Given the description of an element on the screen output the (x, y) to click on. 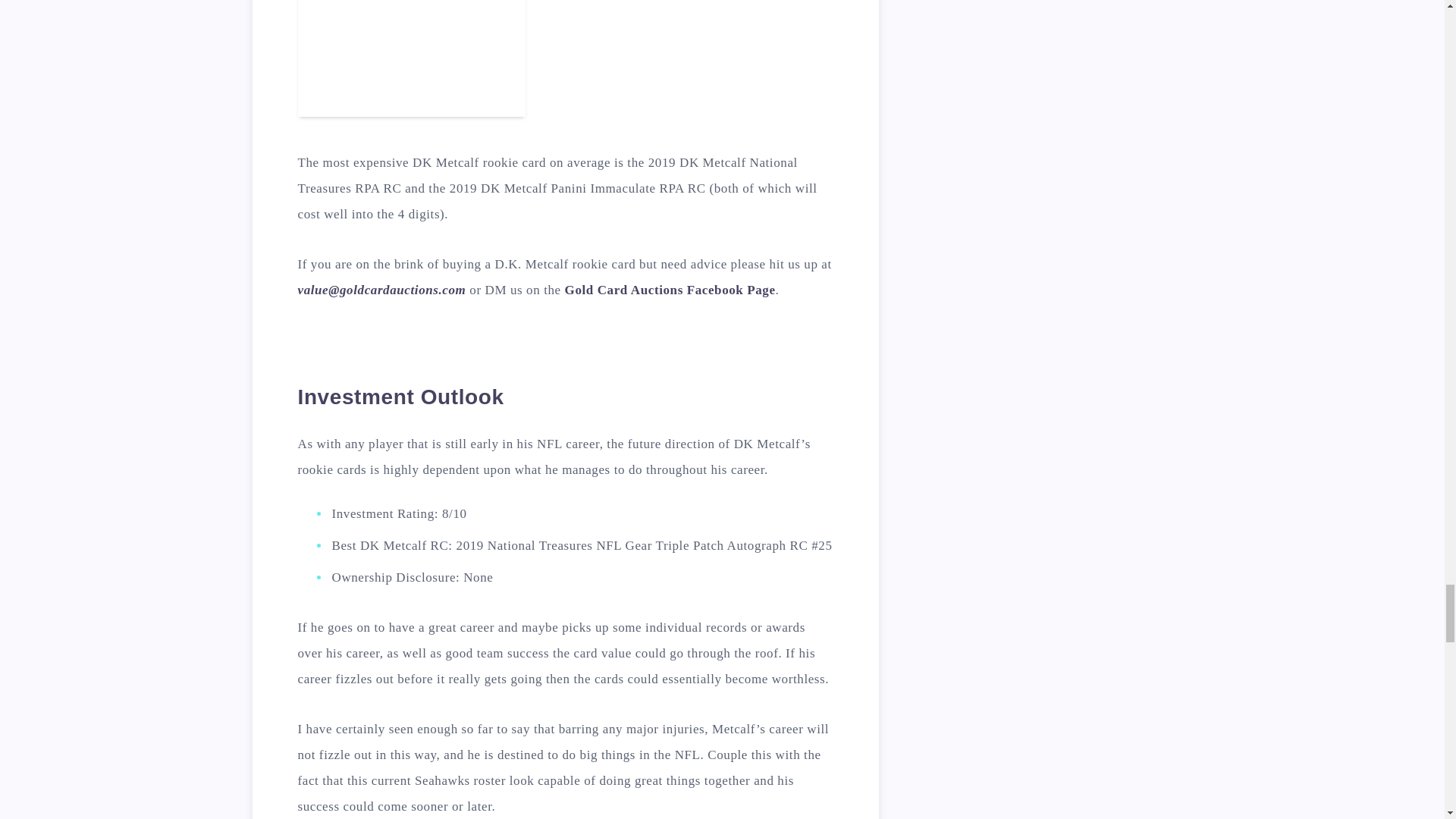
Gold Card Auctions Facebook Page (670, 289)
